Given the description of an element on the screen output the (x, y) to click on. 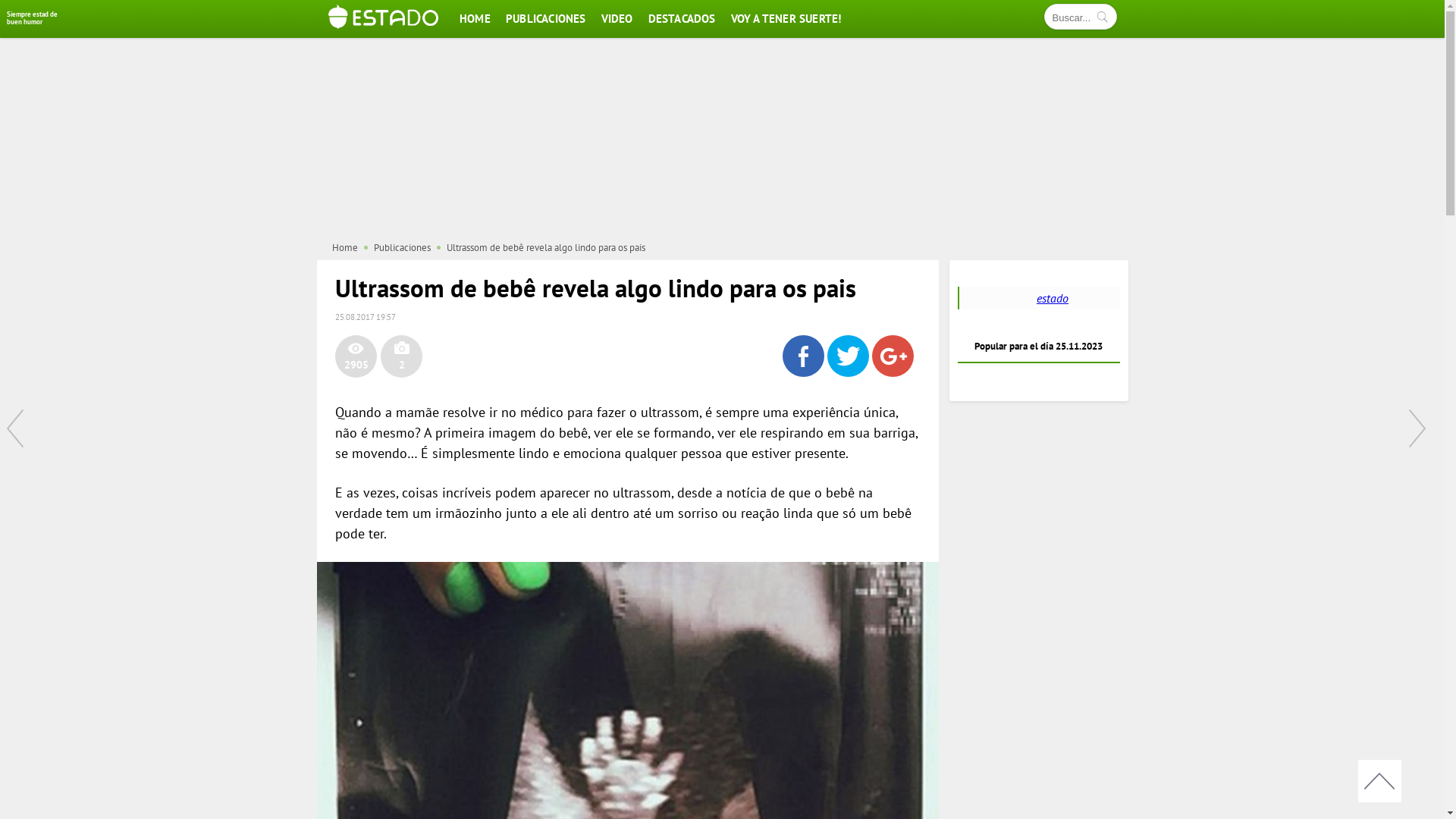
PUBLICACIONES Element type: text (545, 18)
VIDEO Element type: text (616, 18)
estado Element type: text (1052, 297)
Buscar Element type: hover (1102, 20)
Scroll Element type: text (1379, 780)
Publicaciones Element type: text (401, 247)
DESTACADOS Element type: text (681, 18)
Advertisement Element type: hover (722, 138)
VOY A TENER SUERTE! Element type: text (786, 18)
HOME Element type: text (475, 18)
Home Element type: text (344, 247)
